Given the description of an element on the screen output the (x, y) to click on. 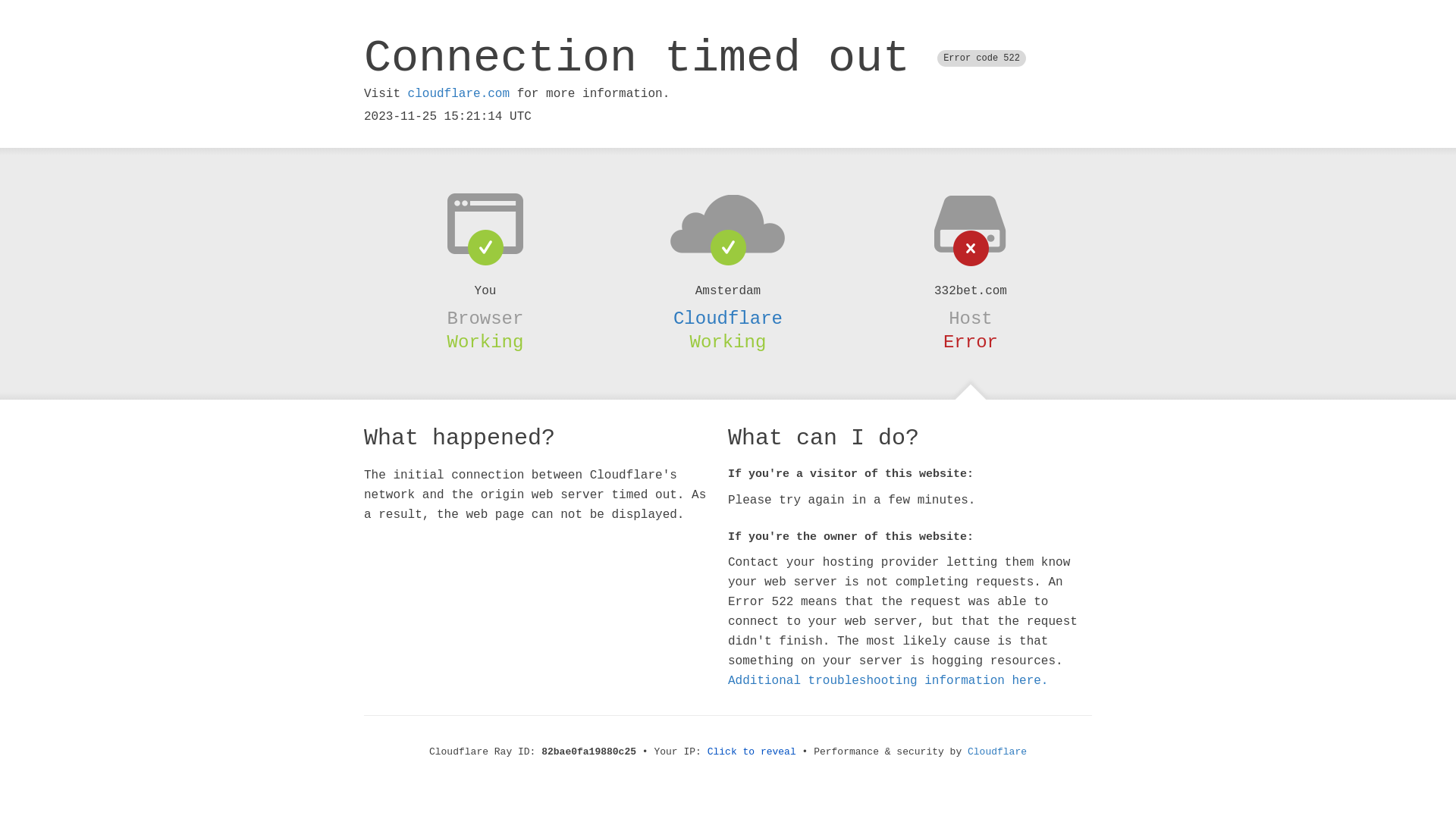
Cloudflare Element type: text (996, 751)
Click to reveal Element type: text (751, 751)
Additional troubleshooting information here. Element type: text (888, 680)
cloudflare.com Element type: text (458, 93)
Cloudflare Element type: text (727, 318)
